Given the description of an element on the screen output the (x, y) to click on. 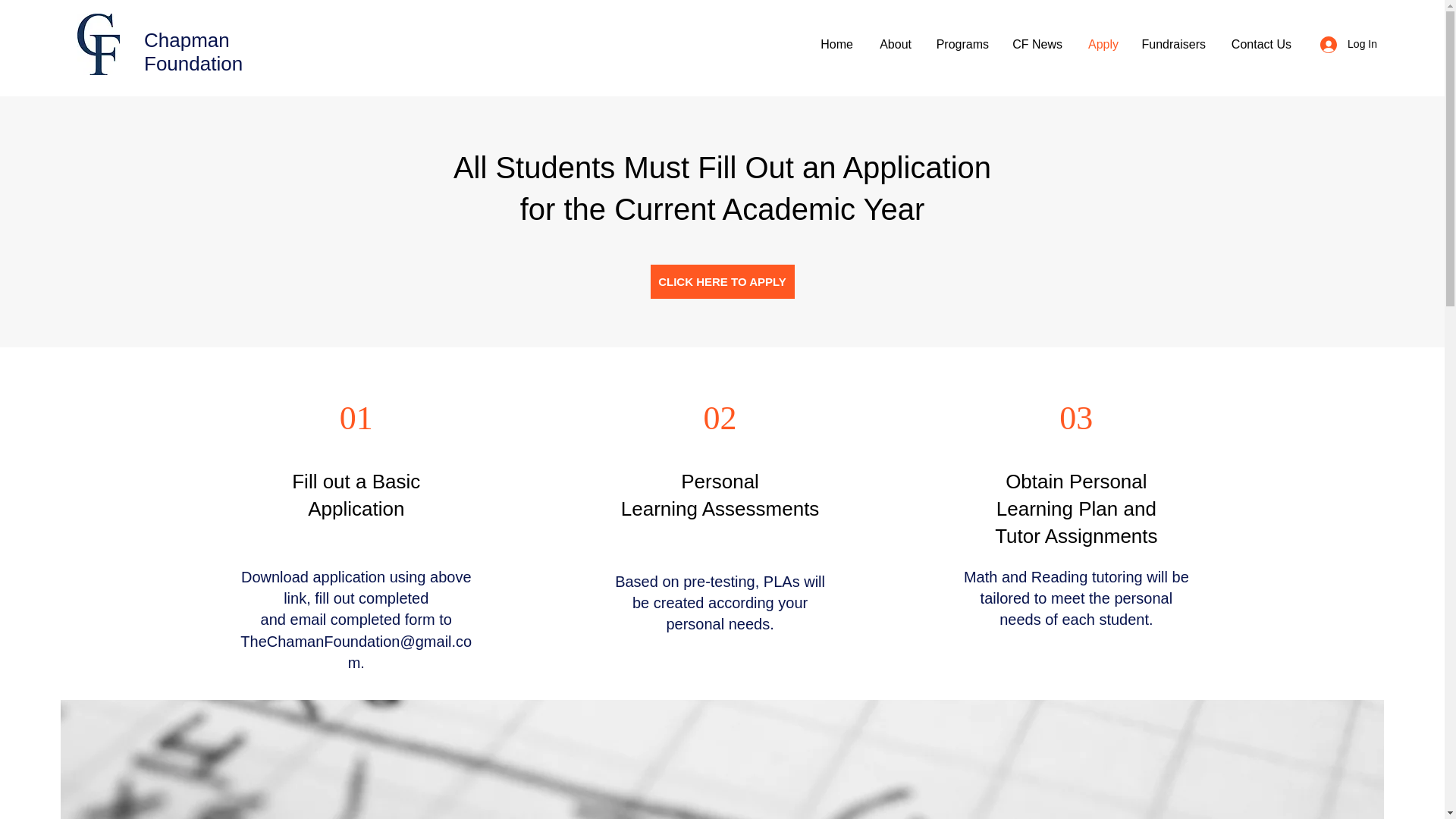
About (893, 44)
Apply (1101, 44)
Chapman Foundation (193, 51)
Home (836, 44)
CF News (1037, 44)
Programs (961, 44)
Log In (1347, 44)
Fundraisers (1173, 44)
CLICK HERE TO APPLY (722, 281)
Contact Us (1260, 44)
